Given the description of an element on the screen output the (x, y) to click on. 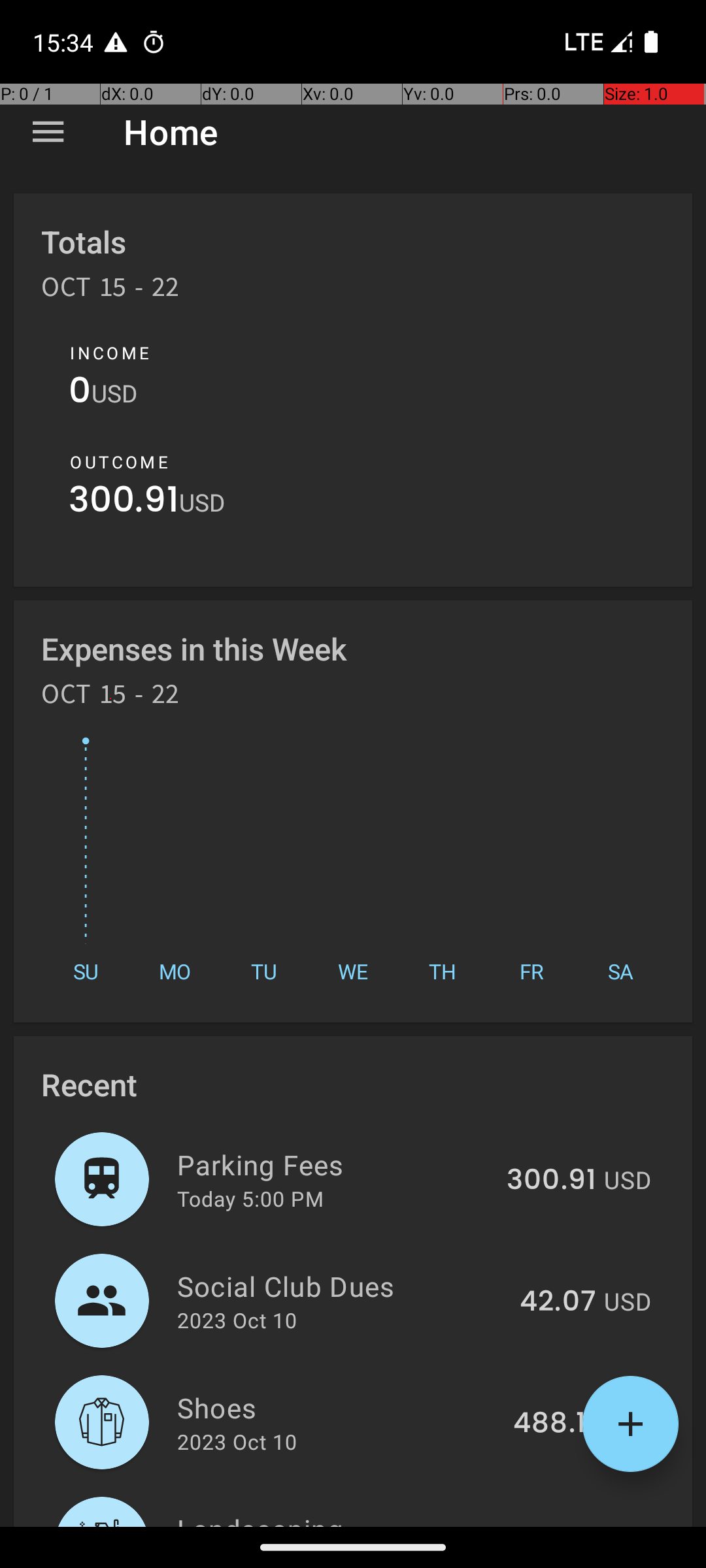
Totals Element type: android.widget.TextView (83, 240)
OCT 15 - 22 Element type: android.widget.TextView (110, 291)
INCOME Element type: android.widget.TextView (109, 352)
USD Element type: android.widget.TextView (114, 392)
OUTCOME Element type: android.widget.TextView (118, 461)
300.91 Element type: android.widget.TextView (123, 502)
Expenses in this Week Element type: android.widget.TextView (194, 648)
Recent Element type: android.widget.TextView (89, 1083)
Parking Fees Element type: android.widget.TextView (334, 1164)
Today 5:00 PM Element type: android.widget.TextView (250, 1198)
Social Club Dues Element type: android.widget.TextView (340, 1285)
2023 Oct 10 Element type: android.widget.TextView (236, 1320)
42.07 Element type: android.widget.TextView (557, 1301)
Shoes Element type: android.widget.TextView (337, 1407)
488.11 Element type: android.widget.TextView (554, 1423)
Landscaping Element type: android.widget.TextView (334, 1518)
405.13 Element type: android.widget.TextView (550, 1524)
